Given the description of an element on the screen output the (x, y) to click on. 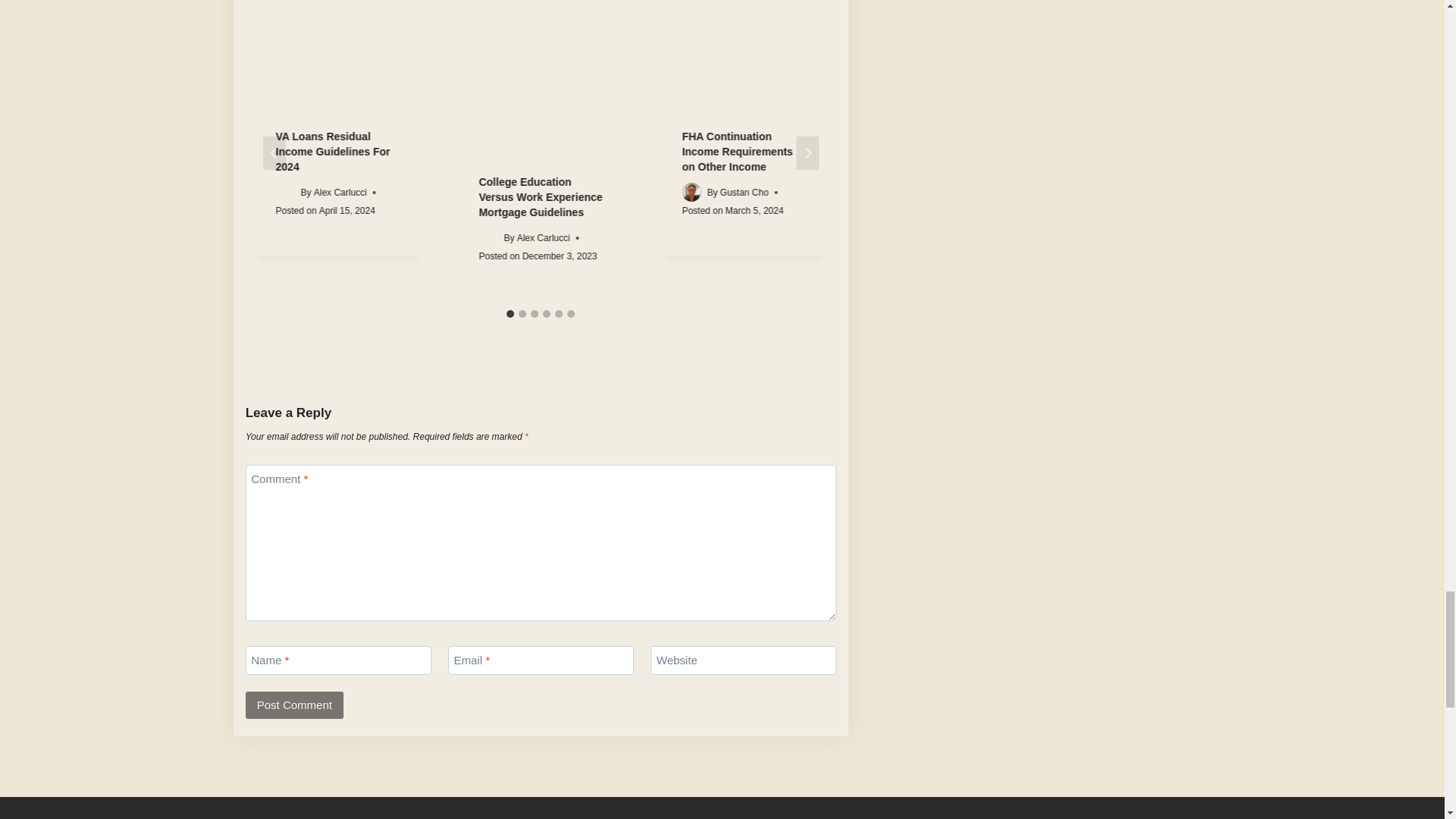
Post Comment (294, 705)
